Given the description of an element on the screen output the (x, y) to click on. 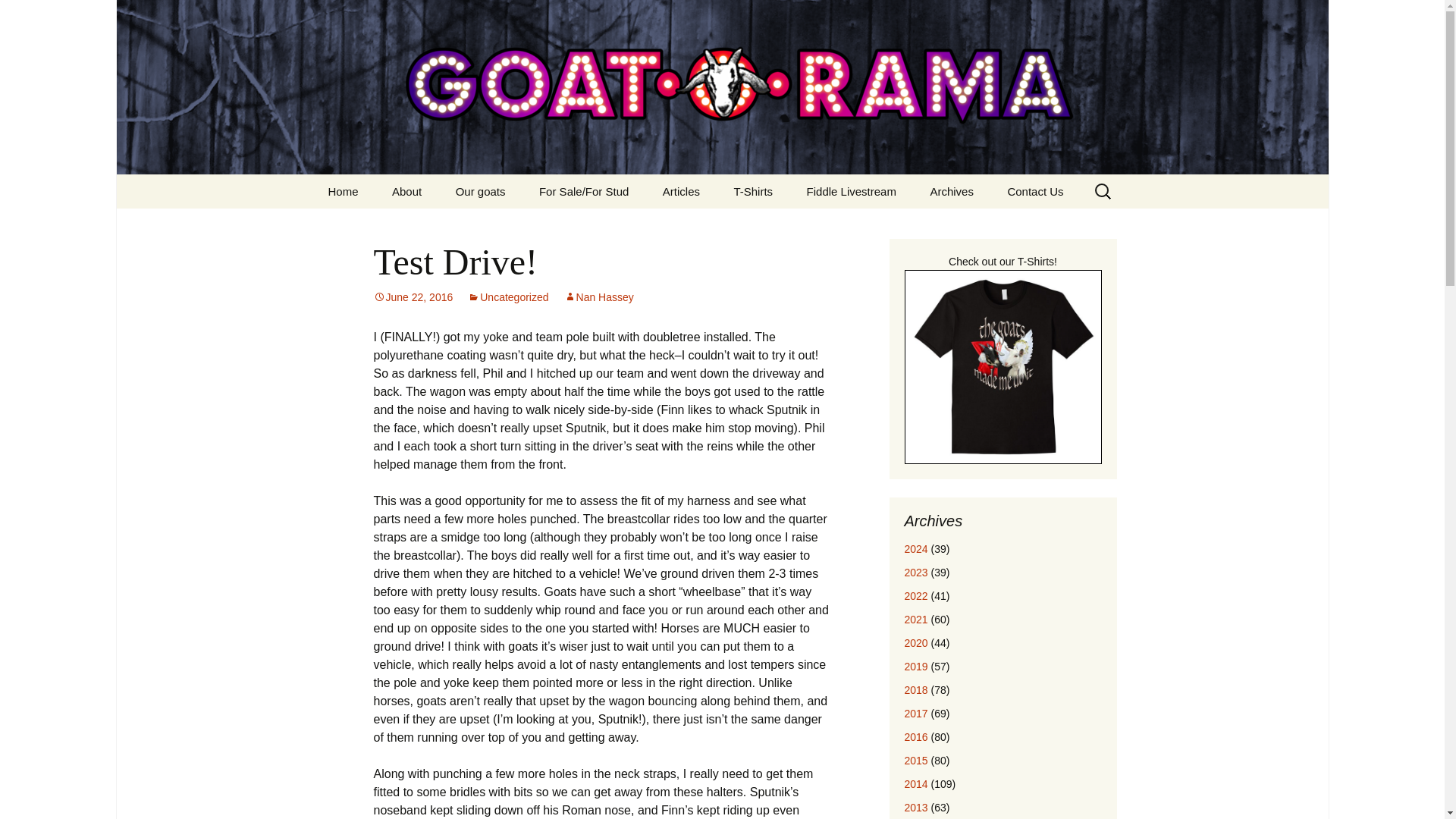
View all posts by Nan Hassey (598, 297)
2015 (915, 760)
2021 (915, 619)
Contact Us (1034, 191)
2016 (915, 736)
June 22, 2016 (412, 297)
Uncategorized (507, 297)
2022 (915, 595)
T-Shirts (18, 15)
2019 (752, 191)
2018 (915, 666)
